Given the description of an element on the screen output the (x, y) to click on. 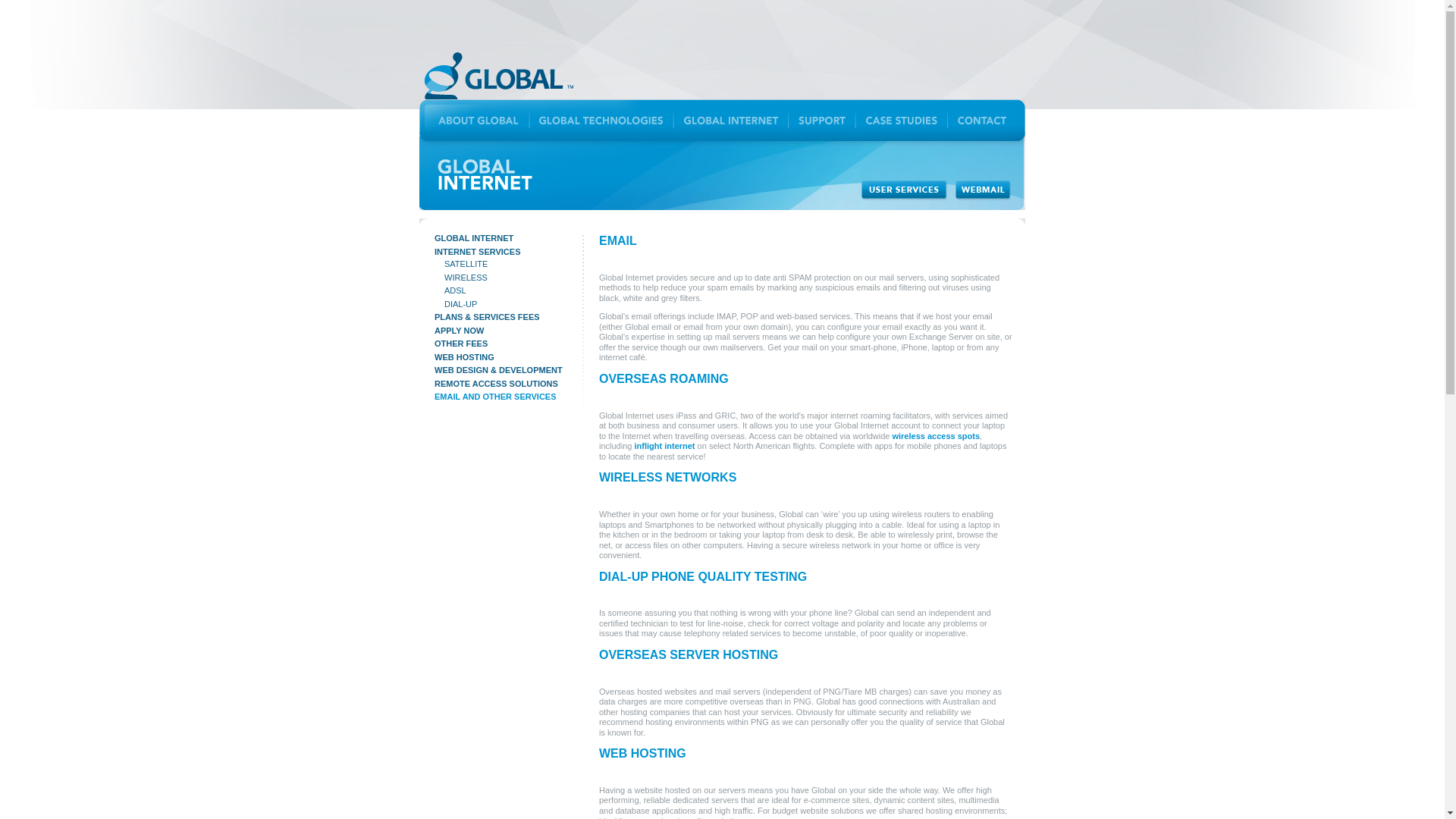
SATELLITE (465, 263)
About Global (474, 117)
APPLY NOW (458, 329)
WIRELESS (465, 276)
ADSL (454, 289)
inflight internet (663, 445)
WEB HOSTING (464, 356)
Contact (986, 117)
Global Internet (731, 117)
DIAL-UP (460, 303)
